Given the description of an element on the screen output the (x, y) to click on. 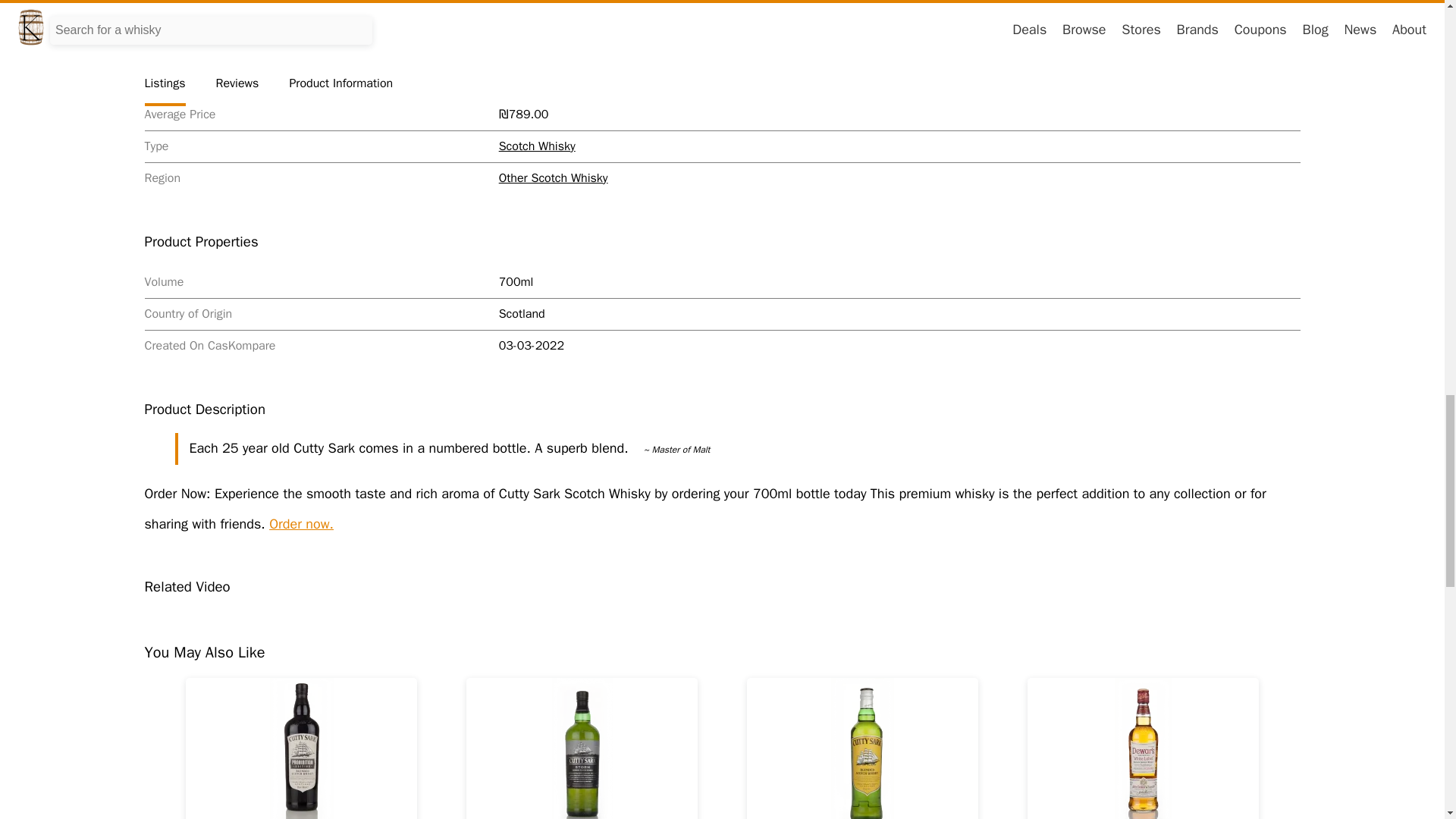
Cutty Sark Prohibition Edition Blended Scotch Whisky (301, 748)
Cutty Sark Blended Scotch Whisky (862, 748)
Cutty Sark (526, 81)
Other Scotch Whisky (553, 177)
Scotch Whisky (537, 145)
Dewar's White Label (1143, 748)
Cutty Sark Storm (581, 748)
